Given the description of an element on the screen output the (x, y) to click on. 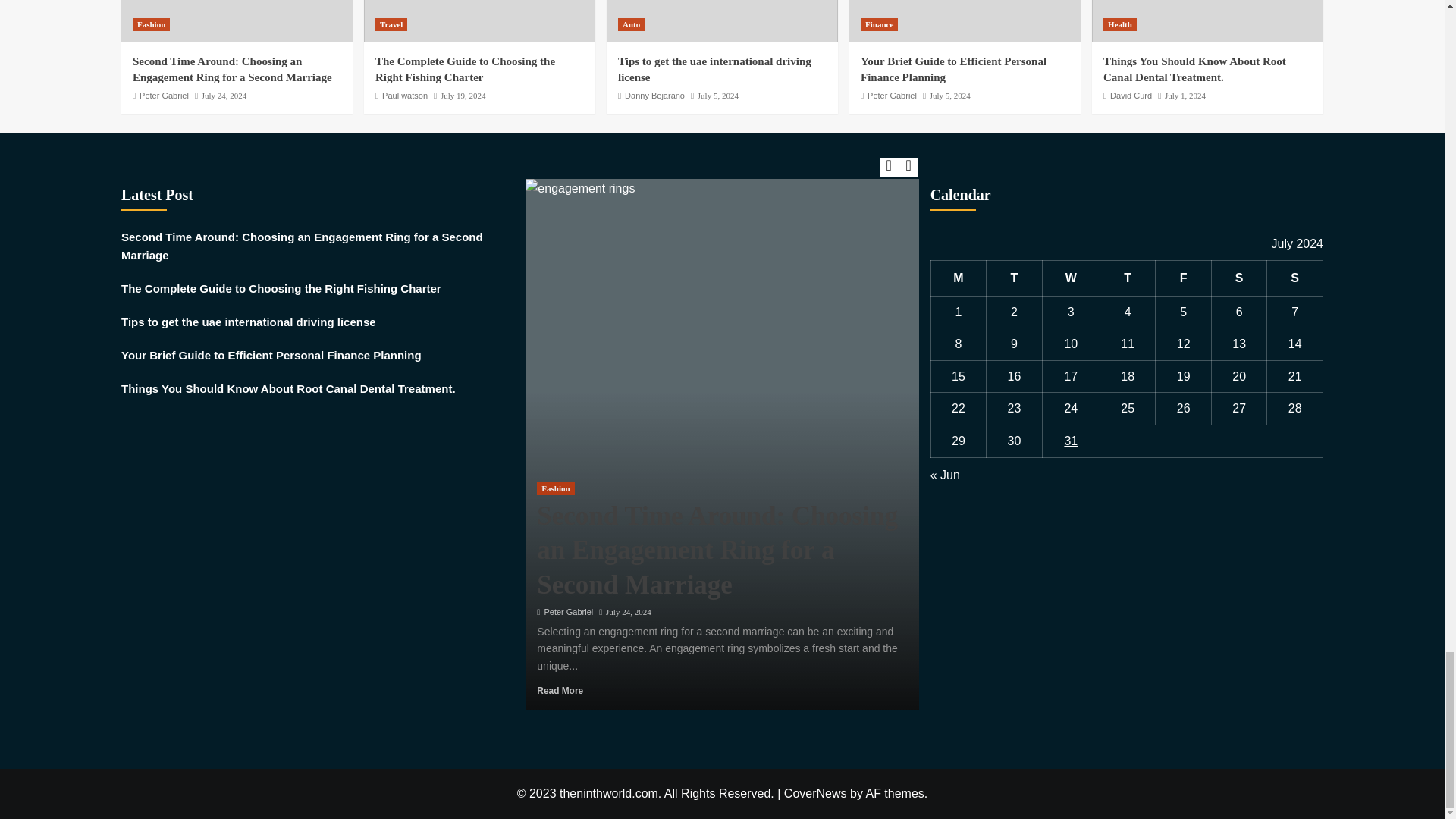
Tuesday (1014, 278)
Thursday (1127, 278)
Monday (958, 278)
Saturday (1238, 278)
Sunday (1294, 278)
Wednesday (1070, 278)
Friday (1183, 278)
